Given the description of an element on the screen output the (x, y) to click on. 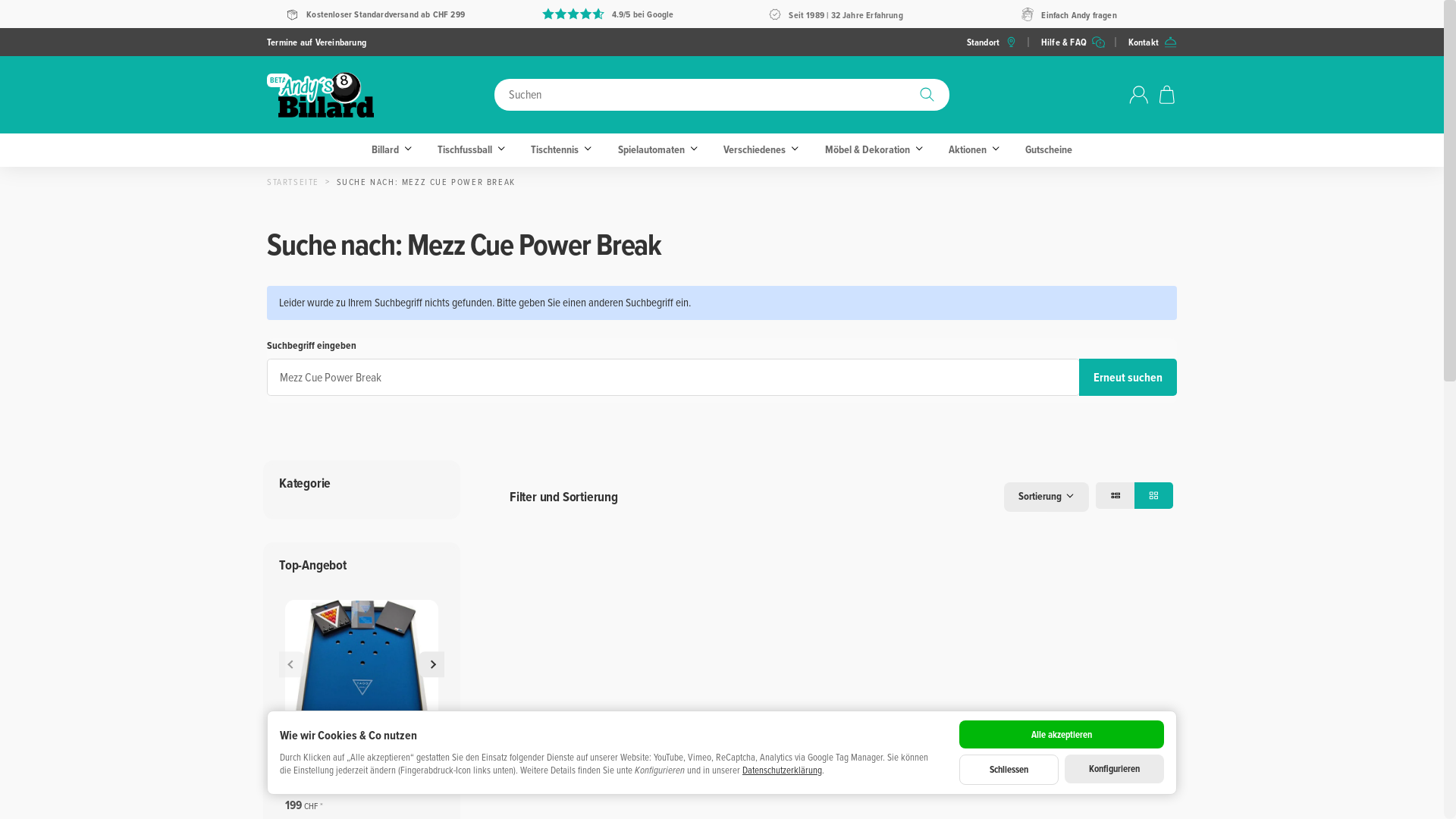
Billard Element type: text (389, 149)
Kontakt Element type: text (1152, 41)
Alle akzeptieren Element type: text (1061, 734)
Tischtennis Element type: text (558, 149)
Galerie Element type: hover (1153, 495)
Liste Element type: hover (1114, 495)
Tischfussball Element type: text (468, 149)
Airhockey Hurricane Element type: text (925, 777)
Einfach Andy fragen Element type: text (1068, 14)
Anmelden Element type: hover (1138, 94)
Kostenloser Standardversand ab CHF 299 Element type: text (374, 14)
Konfigurieren Element type: text (1114, 768)
Andys Billard Schweiz Element type: hover (380, 94)
Erneut suchen Element type: text (1127, 376)
Verschiedenes Element type: text (758, 149)
Spielautomaten Element type: text (655, 149)
FAS Flamingo grau Element type: text (549, 777)
STARTSEITE Element type: text (292, 181)
Aktionen Element type: text (971, 149)
Standort Element type: text (992, 41)
Termine auf Vereinbarung Element type: text (316, 41)
Warenkorb Element type: hover (1166, 94)
TOP Element type: text (737, 676)
Schliessen Element type: text (1008, 769)
Sortierung Element type: text (1046, 496)
Gutscheine Element type: text (1048, 149)
FAS FUN Sport blau Standard Stangen durchgehend Element type: text (737, 777)
Hilfe & FAQ Element type: text (1072, 41)
